Given the description of an element on the screen output the (x, y) to click on. 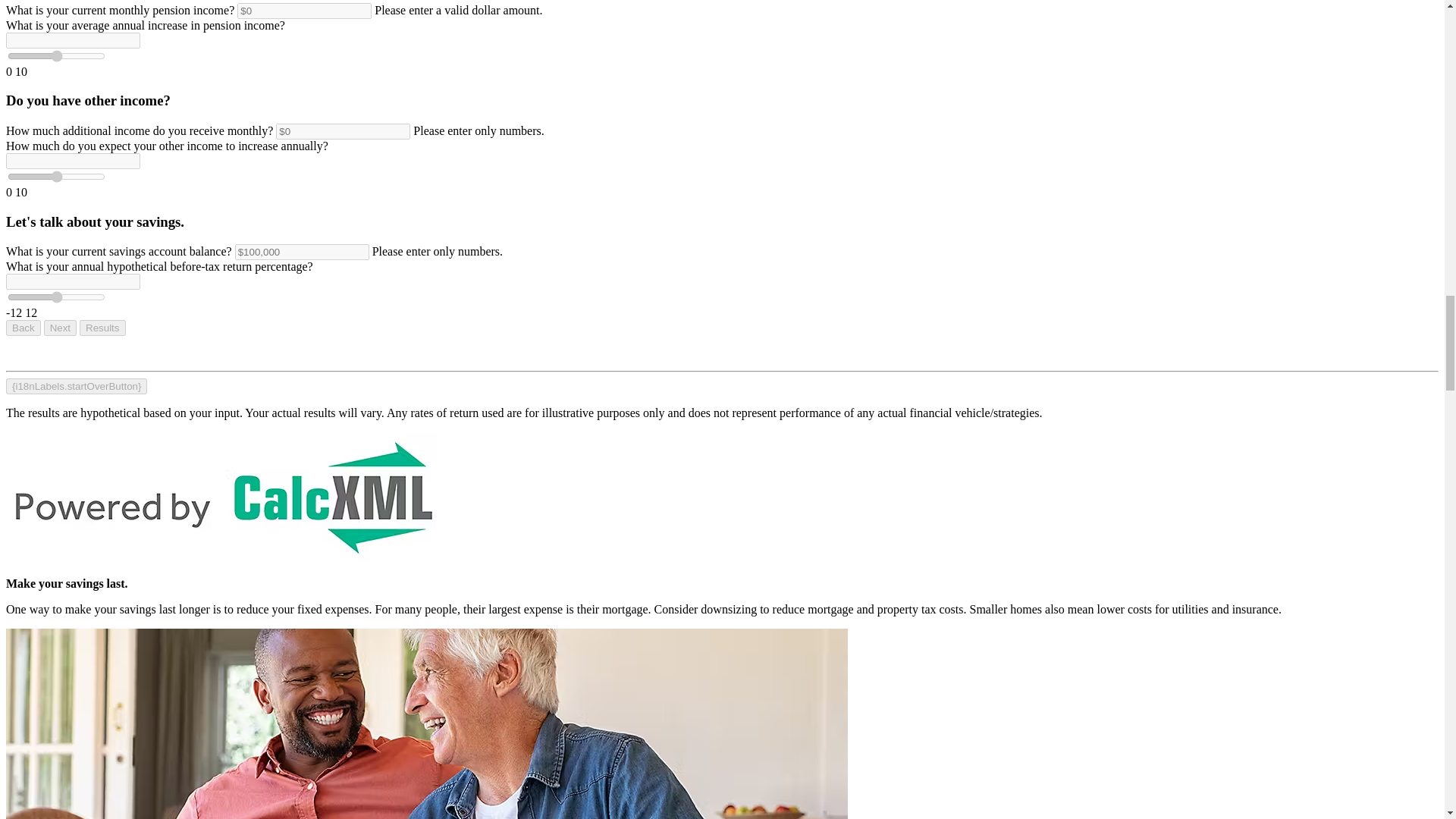
5 (55, 55)
0 (55, 297)
5 (55, 176)
